Given the description of an element on the screen output the (x, y) to click on. 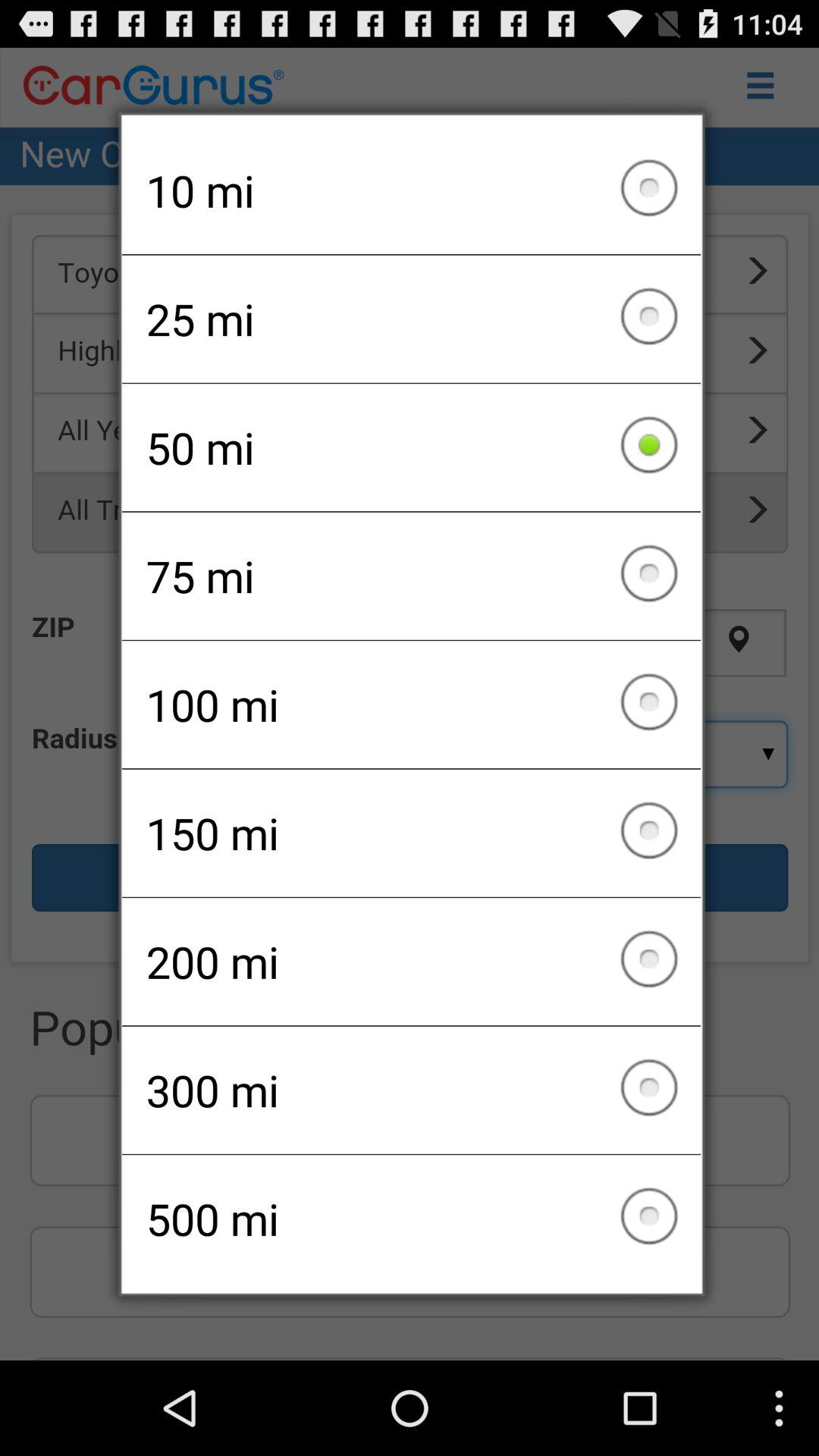
launch item below the 100 mi item (411, 832)
